Given the description of an element on the screen output the (x, y) to click on. 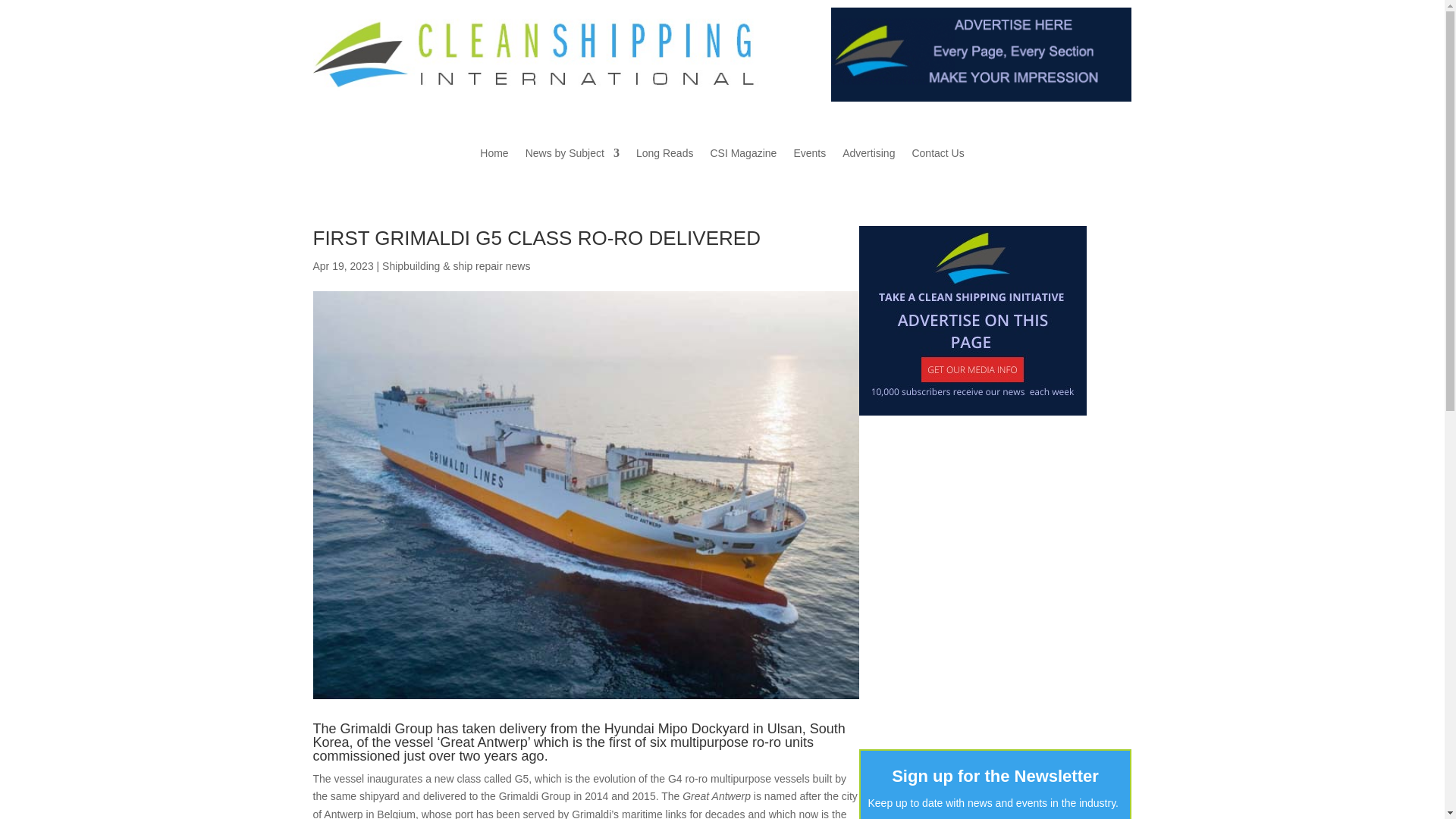
News by Subject (572, 156)
Contact Us (937, 156)
Advertising (869, 156)
Events (809, 156)
Advertise with Clean Shipping International (972, 320)
Long Reads (665, 156)
Advertise with Clean Shipping International (981, 54)
Clean Shipping International Logo (549, 49)
CSI Magazine (743, 156)
